Given the description of an element on the screen output the (x, y) to click on. 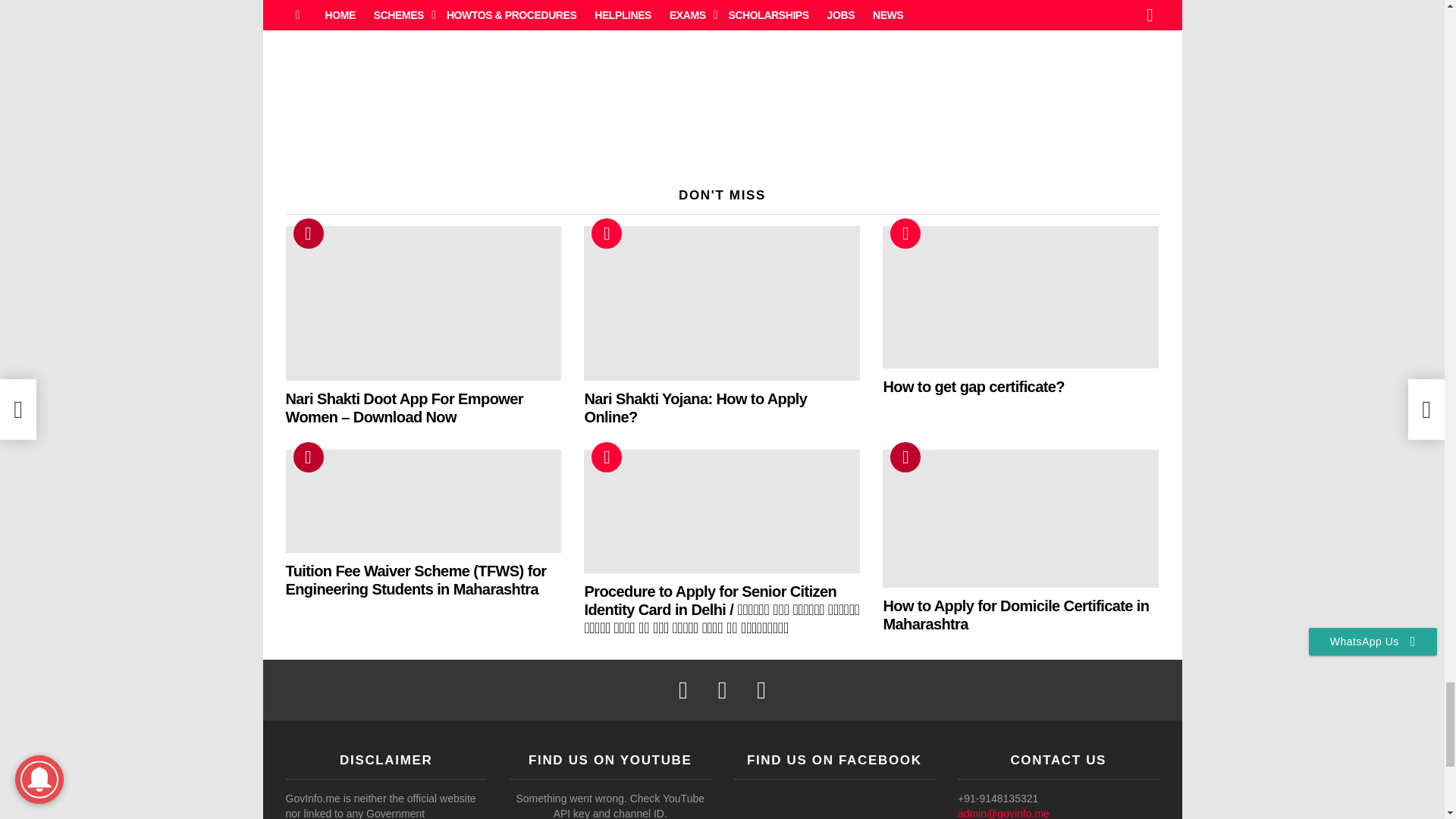
Nari Shakti Yojana: How to Apply Online? (721, 303)
Trending (307, 233)
